Given the description of an element on the screen output the (x, y) to click on. 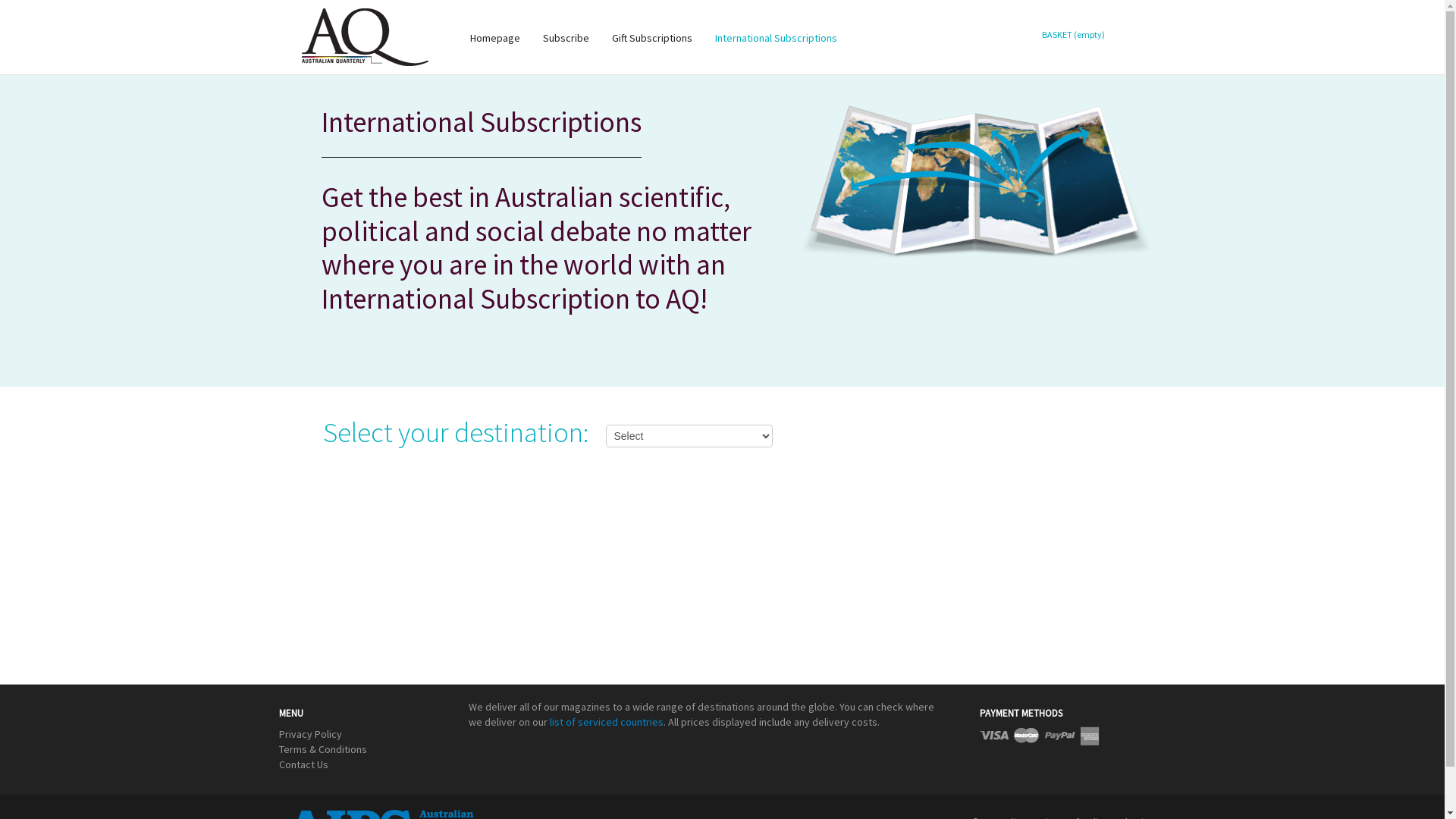
list of serviced countries Element type: text (605, 721)
International Subscriptions Element type: text (775, 37)
BASKET (empty) Element type: text (1070, 34)
Privacy Policy Element type: text (310, 733)
Gift Subscriptions Element type: text (651, 37)
Terms & Conditions Element type: text (323, 749)
Contact Us Element type: text (303, 764)
Subscribe Element type: text (564, 37)
Homepage Element type: text (494, 37)
